Given the description of an element on the screen output the (x, y) to click on. 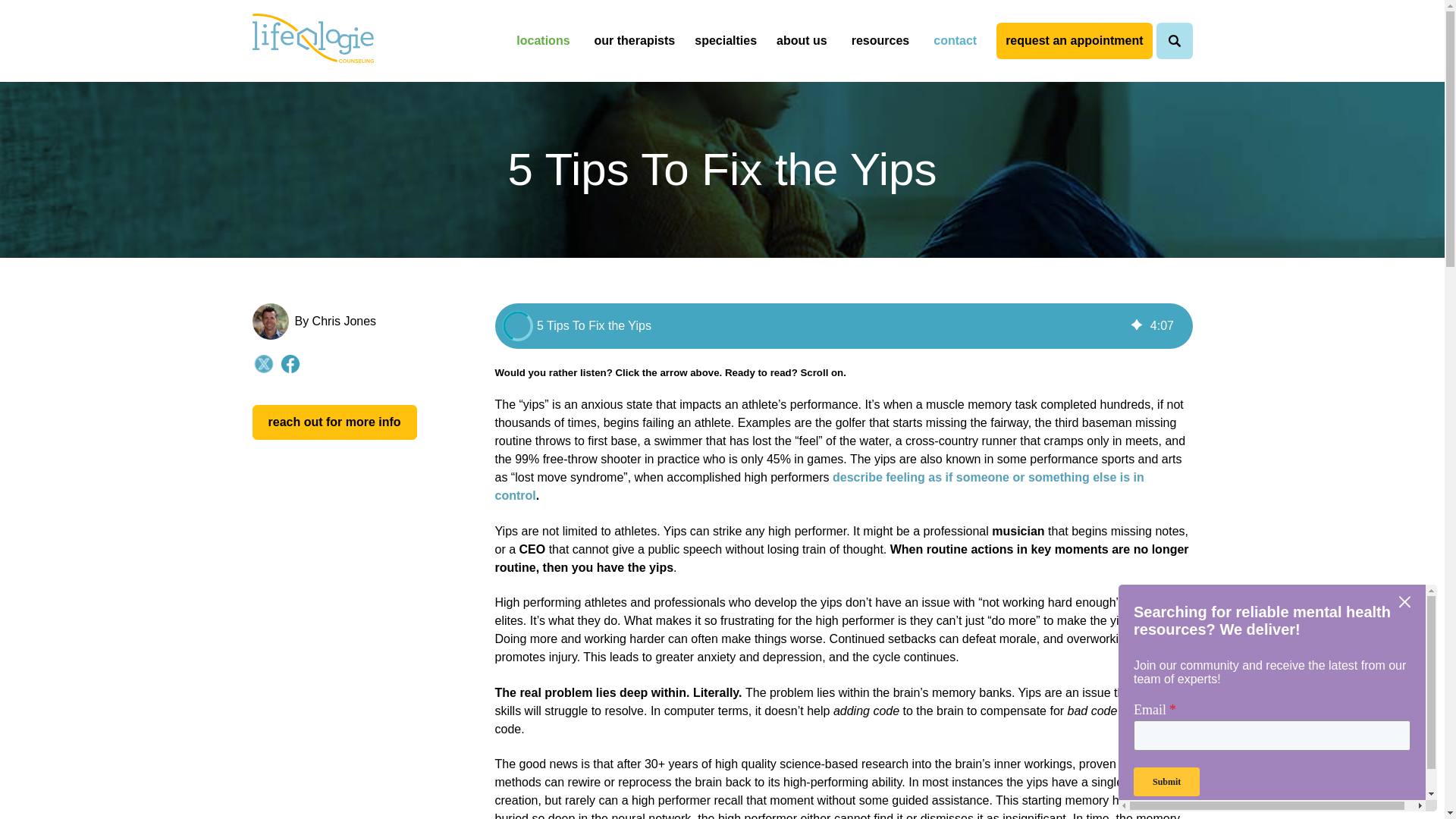
contact (954, 40)
logo (311, 38)
reach out for more info (333, 421)
our therapists (634, 40)
request an appointment (1073, 40)
By Chris Jones (334, 320)
resources (880, 40)
Popup CTA (1277, 697)
about us (804, 40)
locations (541, 40)
specialties (727, 40)
